Given the description of an element on the screen output the (x, y) to click on. 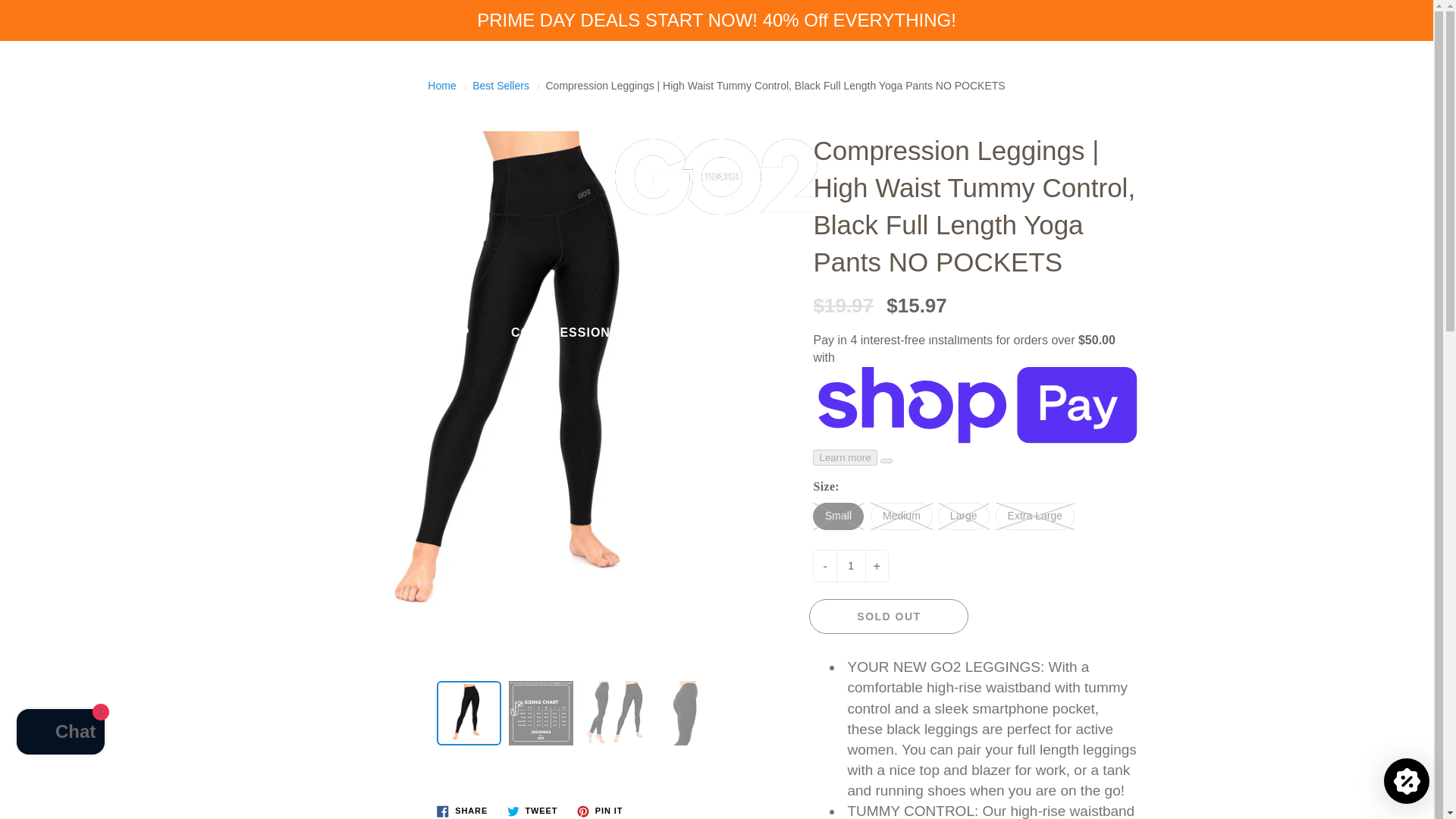
Home (441, 85)
FUN COLLECTION (915, 332)
1 (850, 565)
My account (1368, 67)
Search (28, 67)
RUNNING SOCKS (759, 332)
COMPRESSION SOCKS (585, 332)
SUMMER SHOP (419, 332)
SHOP (1040, 332)
You have 0 items in your cart (1406, 67)
